Given the description of an element on the screen output the (x, y) to click on. 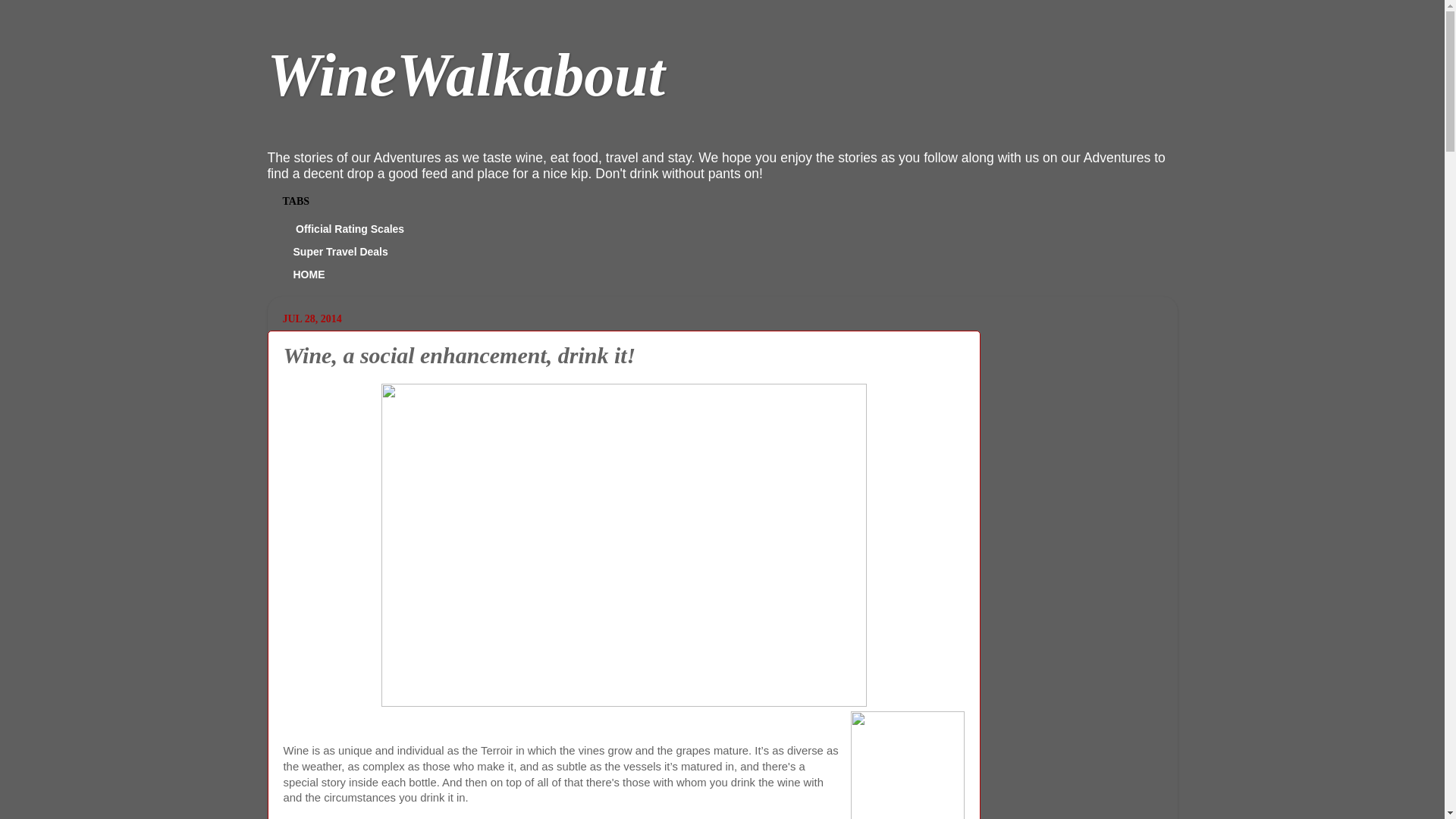
WineWalkabout (465, 74)
Super Travel Deals (340, 251)
HOME (309, 273)
Official Rating Scales (348, 228)
